Given the description of an element on the screen output the (x, y) to click on. 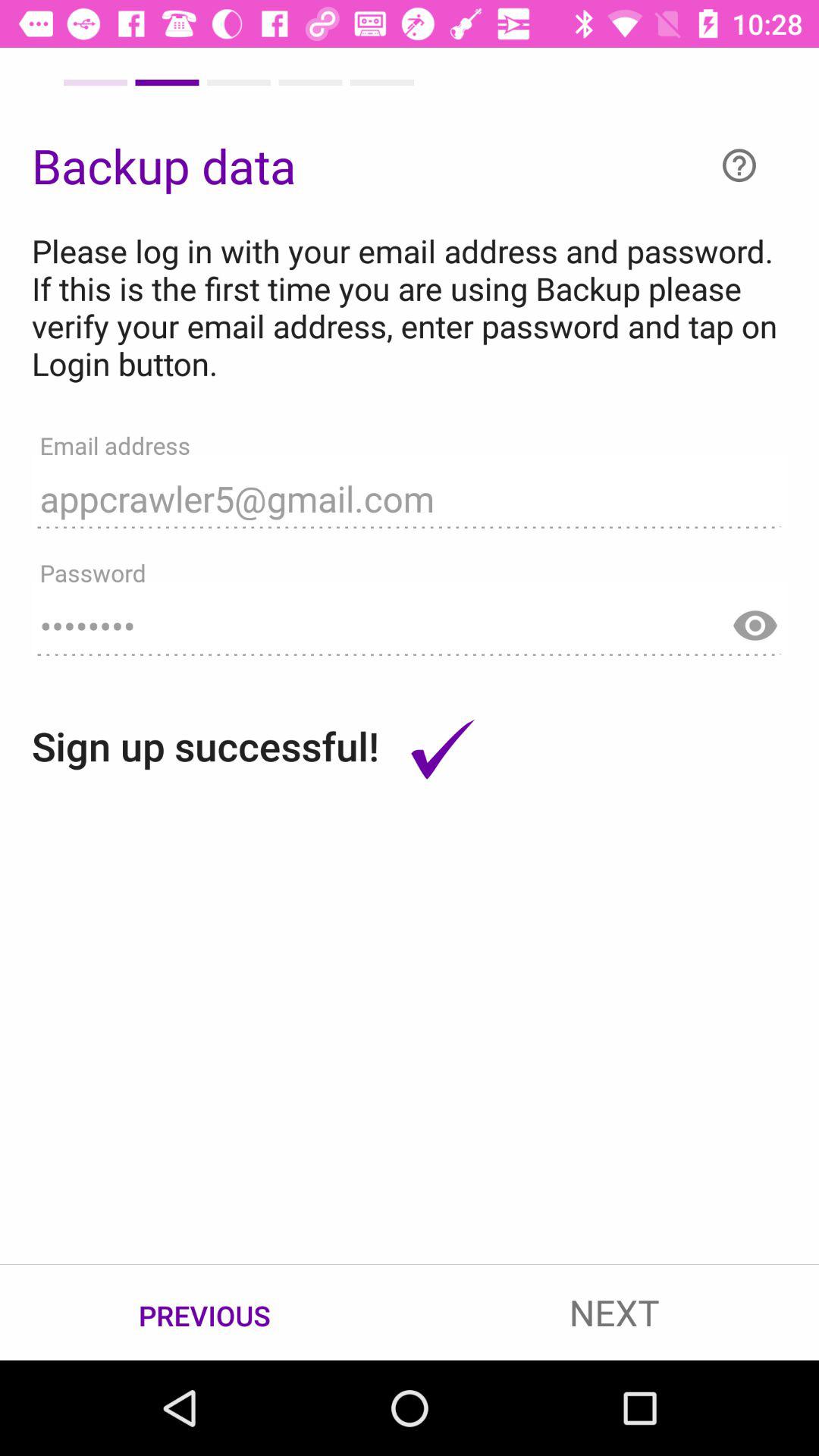
question (739, 165)
